Given the description of an element on the screen output the (x, y) to click on. 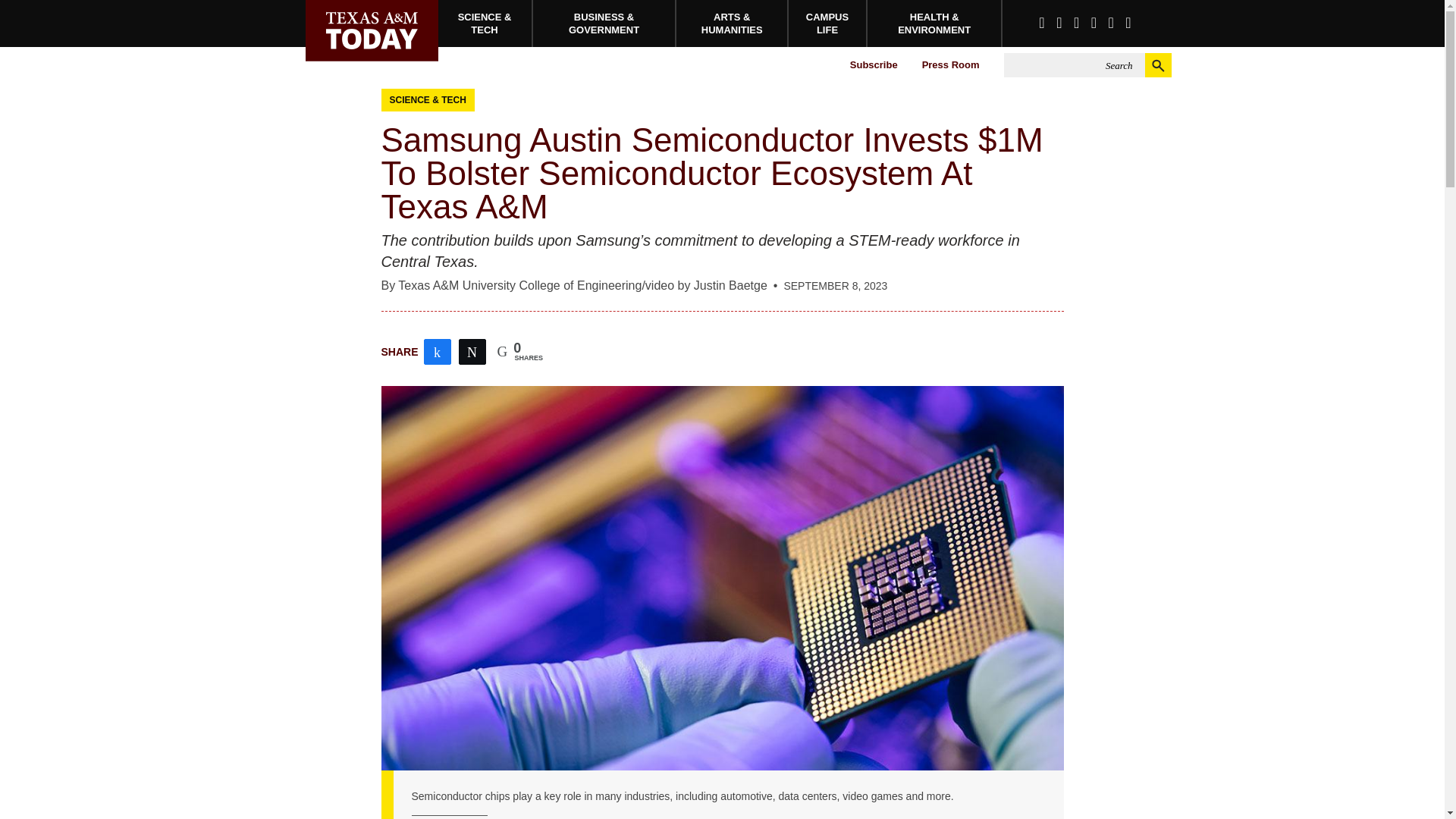
Subscribe (874, 64)
Enter site search (1074, 64)
CAMPUS LIFE (828, 23)
Press Room (950, 64)
